Given the description of an element on the screen output the (x, y) to click on. 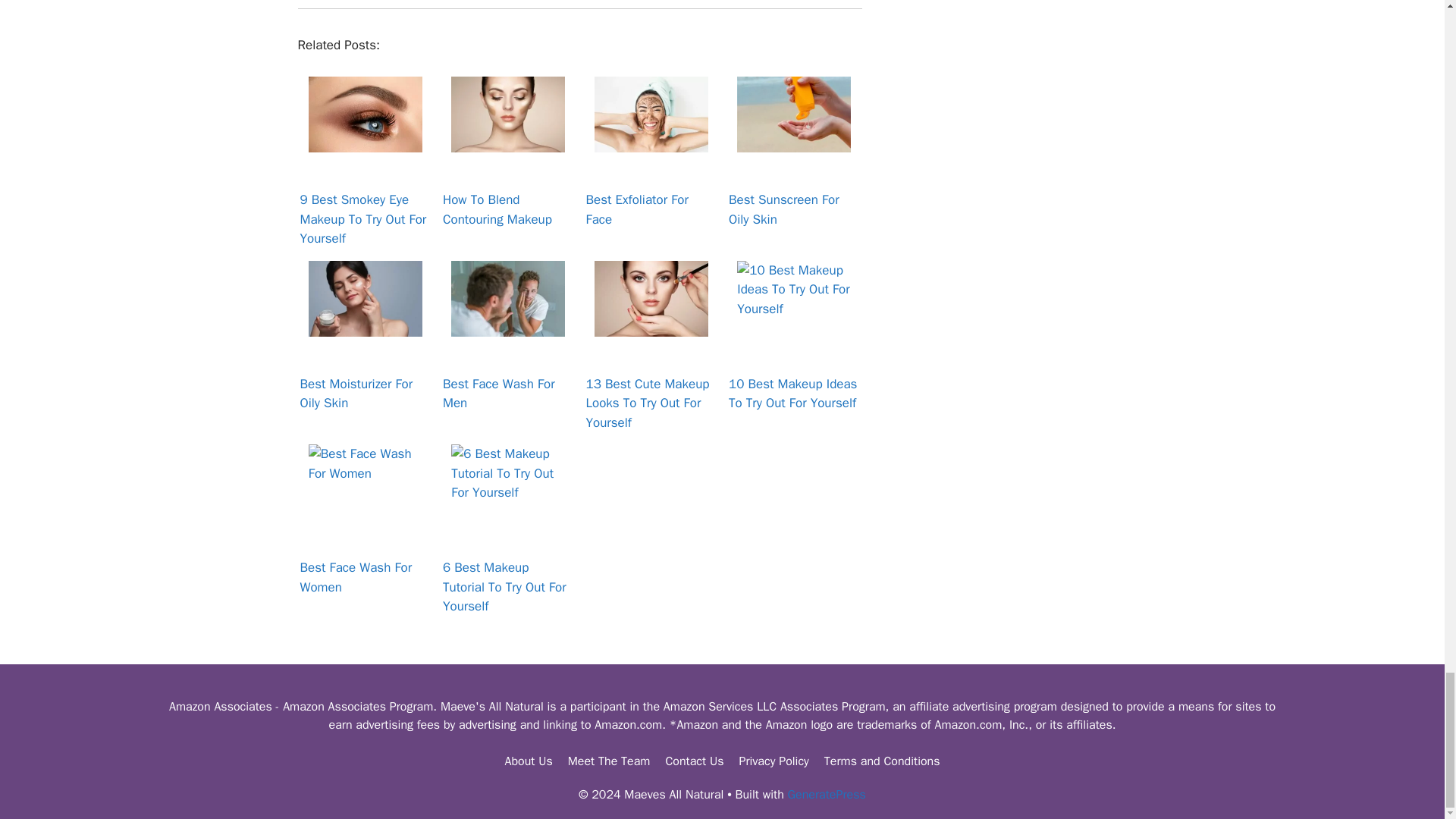
9 Best Smokey Eye Makeup To Try Out For Yourself (365, 114)
13 Best Cute Makeup Looks To Try Out For Yourself (650, 298)
How To Blend Contouring Makeup (507, 114)
Best Face Wash For Women (365, 482)
Best Face Wash For Men (507, 298)
6 Best Makeup Tutorial To Try Out For Yourself (507, 482)
Best Sunscreen For Oily Skin (793, 114)
10 Best Makeup Ideas To Try Out For Yourself (793, 298)
Best Exfoliator For Face (650, 114)
Best Moisturizer For Oily Skin (365, 298)
